Given the description of an element on the screen output the (x, y) to click on. 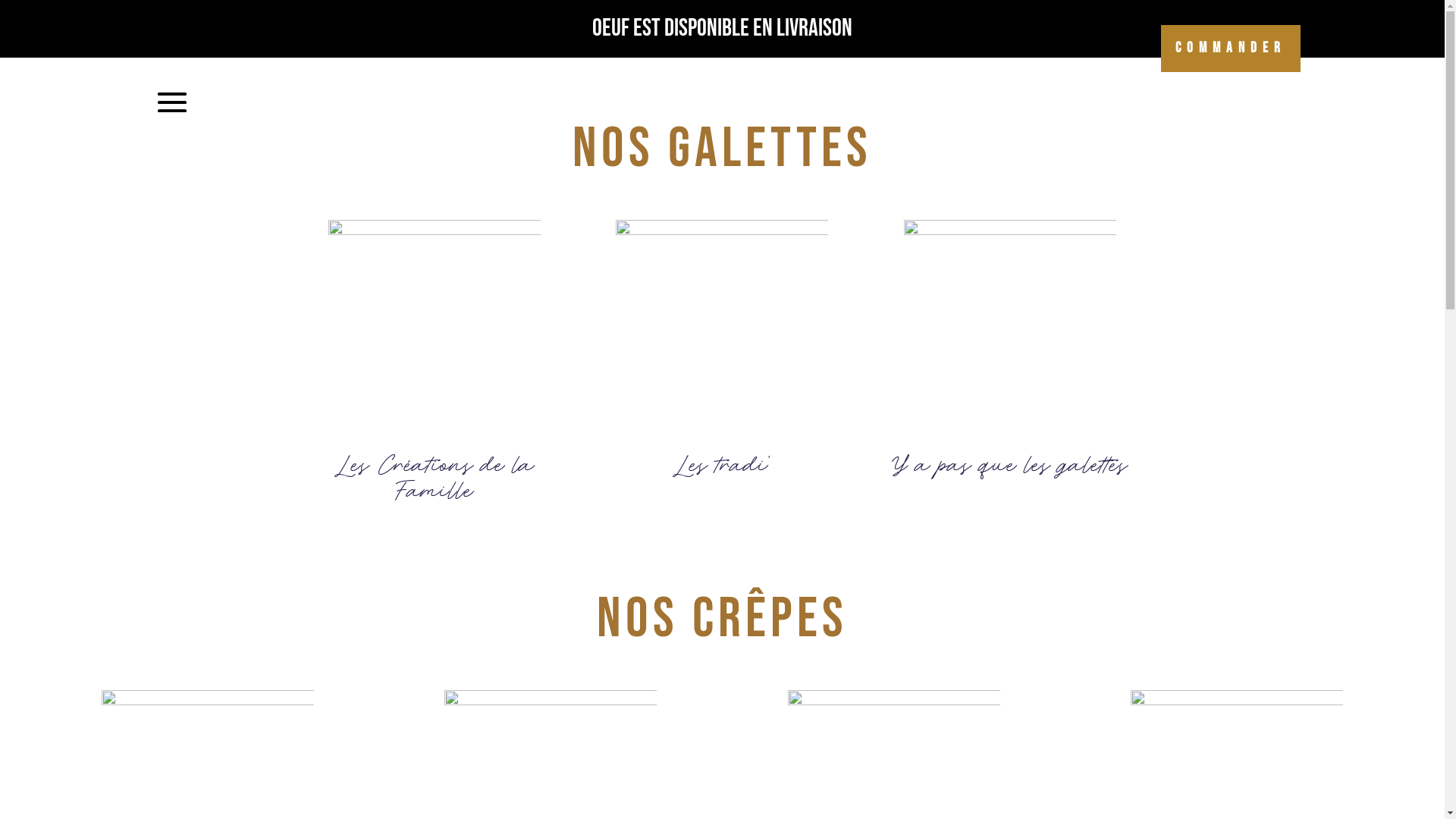
Les tradi' Element type: text (721, 467)
COMMANDER Element type: text (1229, 48)
